Given the description of an element on the screen output the (x, y) to click on. 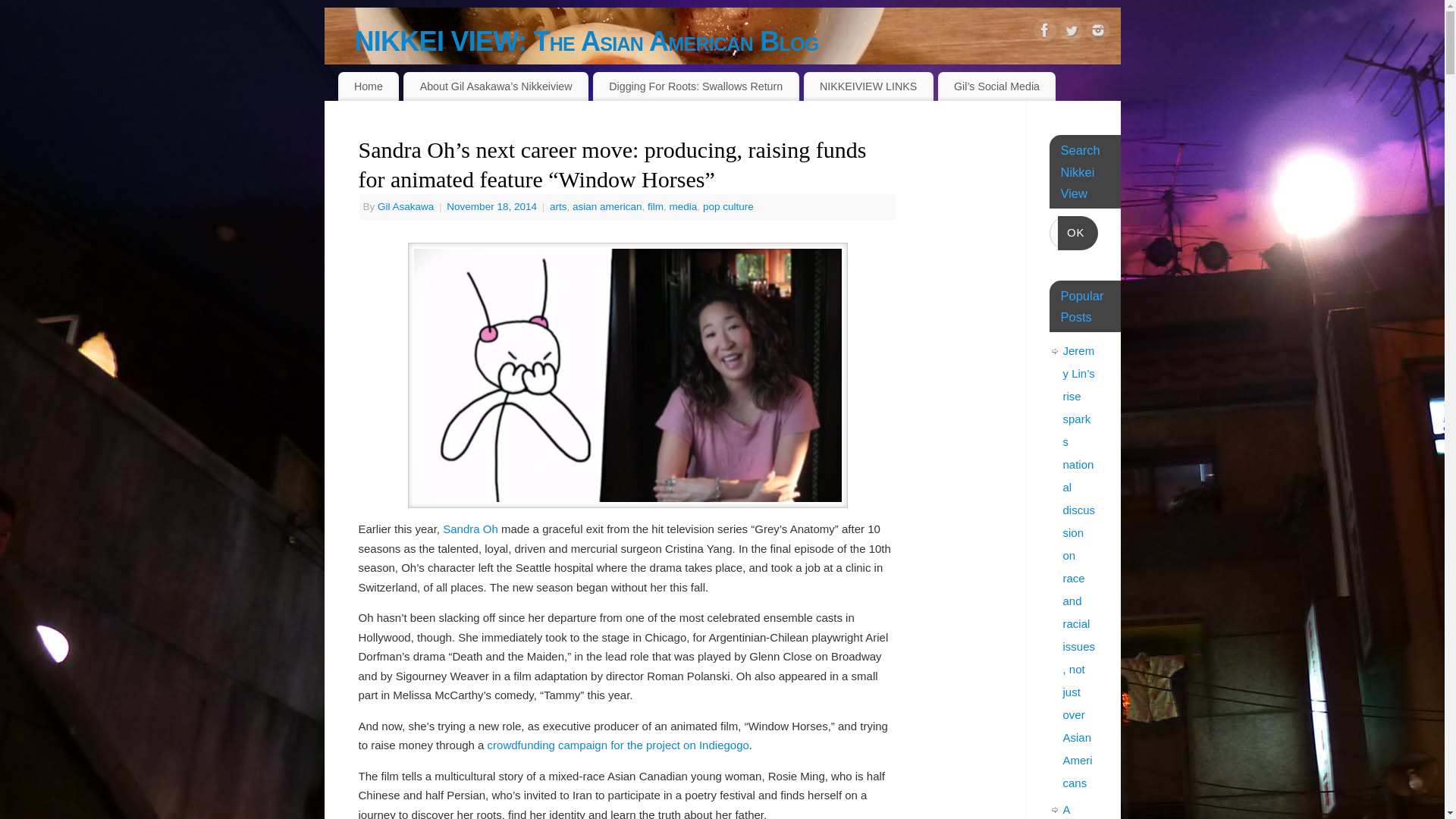
arts (558, 206)
NIKKEI VIEW: The Asian American Blog (738, 41)
crowdfunding campaign for the project on Indiegogo (618, 744)
NIKKEIVIEW LINKS (868, 86)
Home (367, 86)
7:16 pm (492, 206)
asian american (607, 206)
pop culture (728, 206)
November 18, 2014 (492, 206)
Gil Asakawa (405, 206)
